Given the description of an element on the screen output the (x, y) to click on. 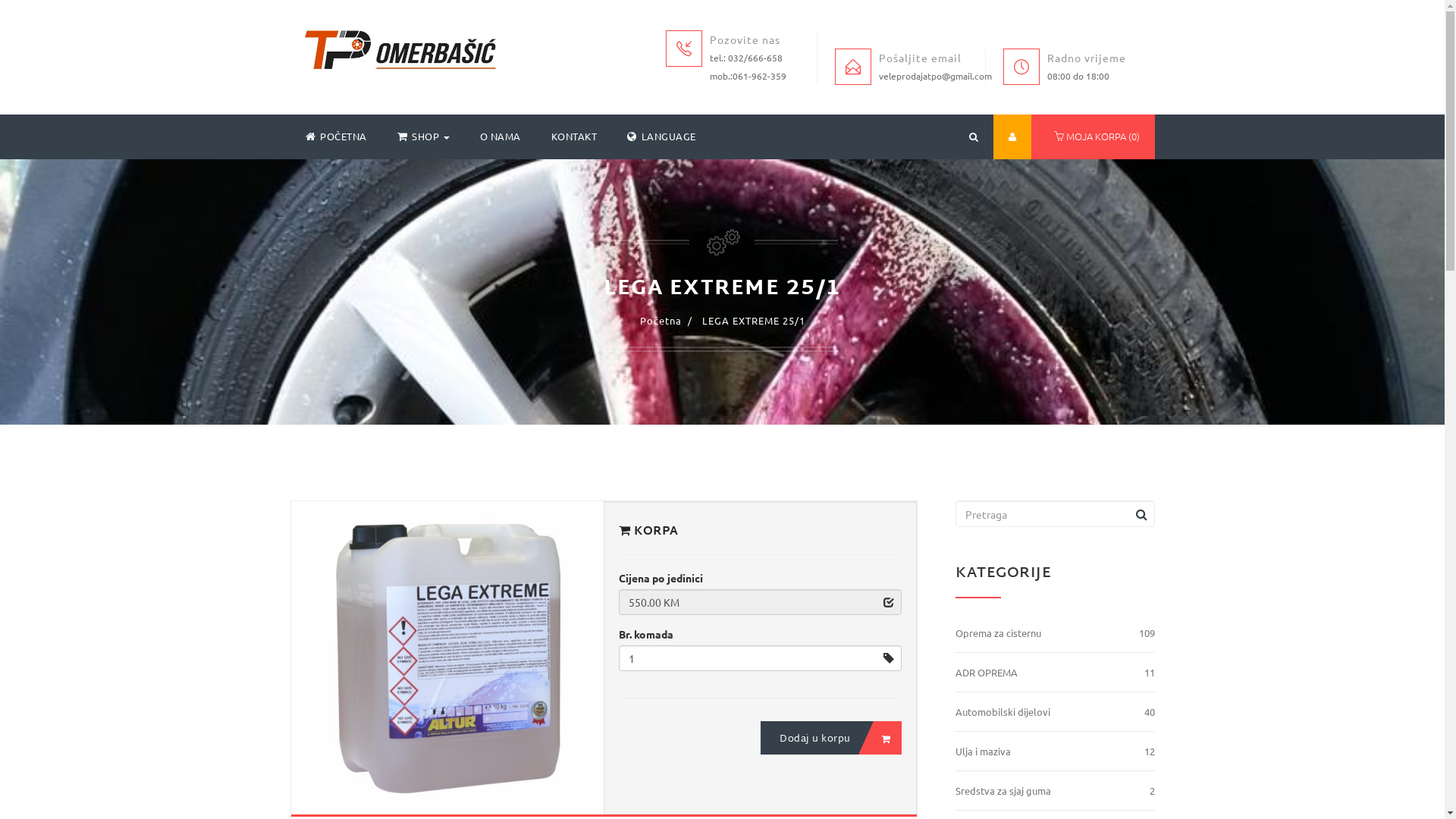
O NAMA Element type: text (499, 136)
Sredstva za sjaj guma
2 Element type: text (1054, 790)
MOJA KORPA (0) Element type: text (1092, 136)
Ulja i maziva
12 Element type: text (1054, 751)
Automobilski dijelovi
40 Element type: text (1054, 712)
LANGUAGE Element type: text (661, 136)
SHOP Element type: text (423, 136)
ADR OPREMA
11 Element type: text (1054, 672)
Dodaj u korpu Element type: text (830, 737)
Oprema za cisternu
109 Element type: text (1054, 633)
KONTAKT Element type: text (573, 136)
